Given the description of an element on the screen output the (x, y) to click on. 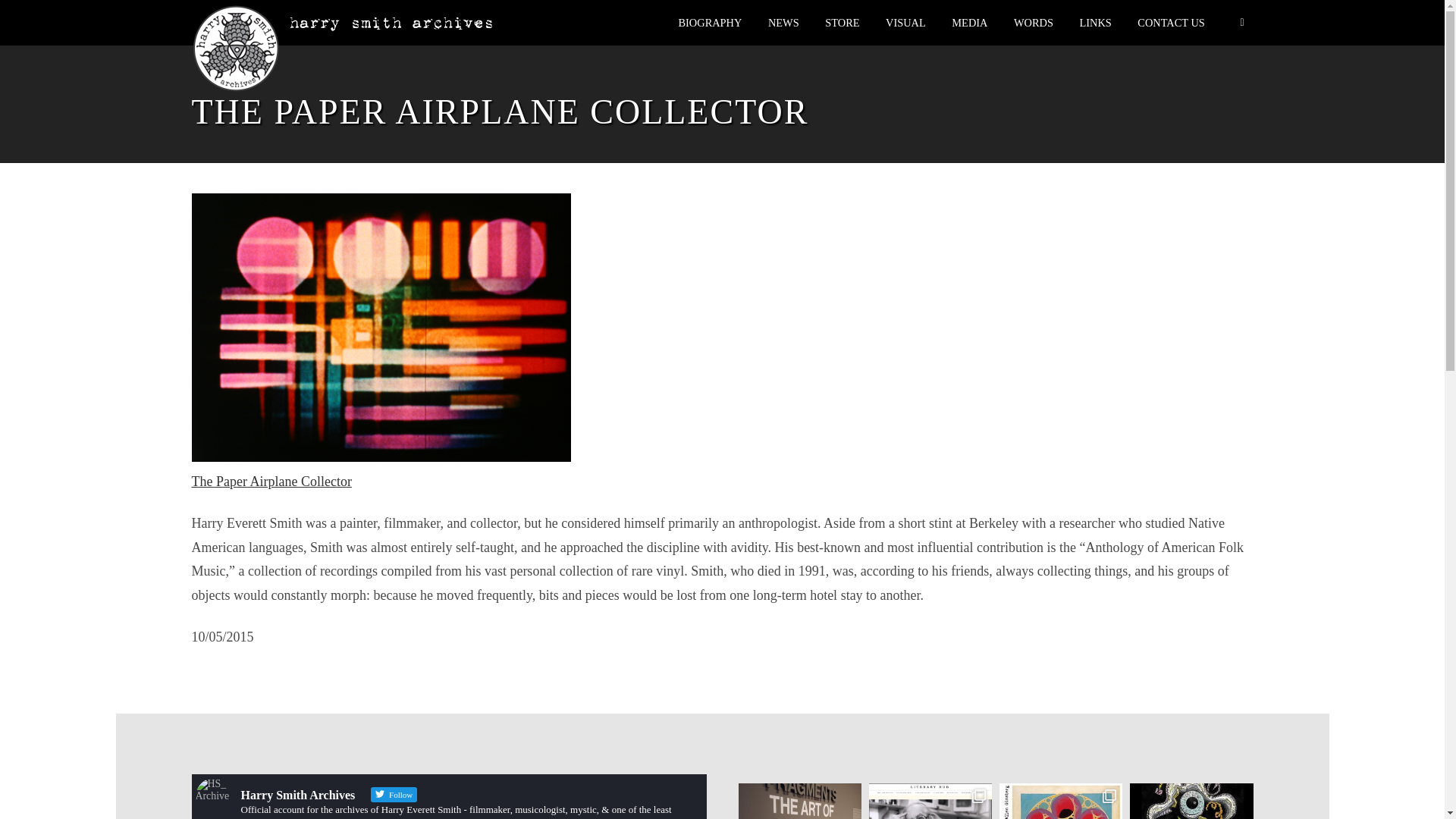
VISUAL (900, 22)
CONTACT US (1165, 22)
LINKS (1088, 22)
The Paper Airplane Collector (270, 481)
NEWS (778, 22)
Harry Smith Archives (234, 48)
STORE (836, 22)
MEDIA (963, 22)
BIOGRAPHY (703, 22)
WORDS (1027, 22)
